Given the description of an element on the screen output the (x, y) to click on. 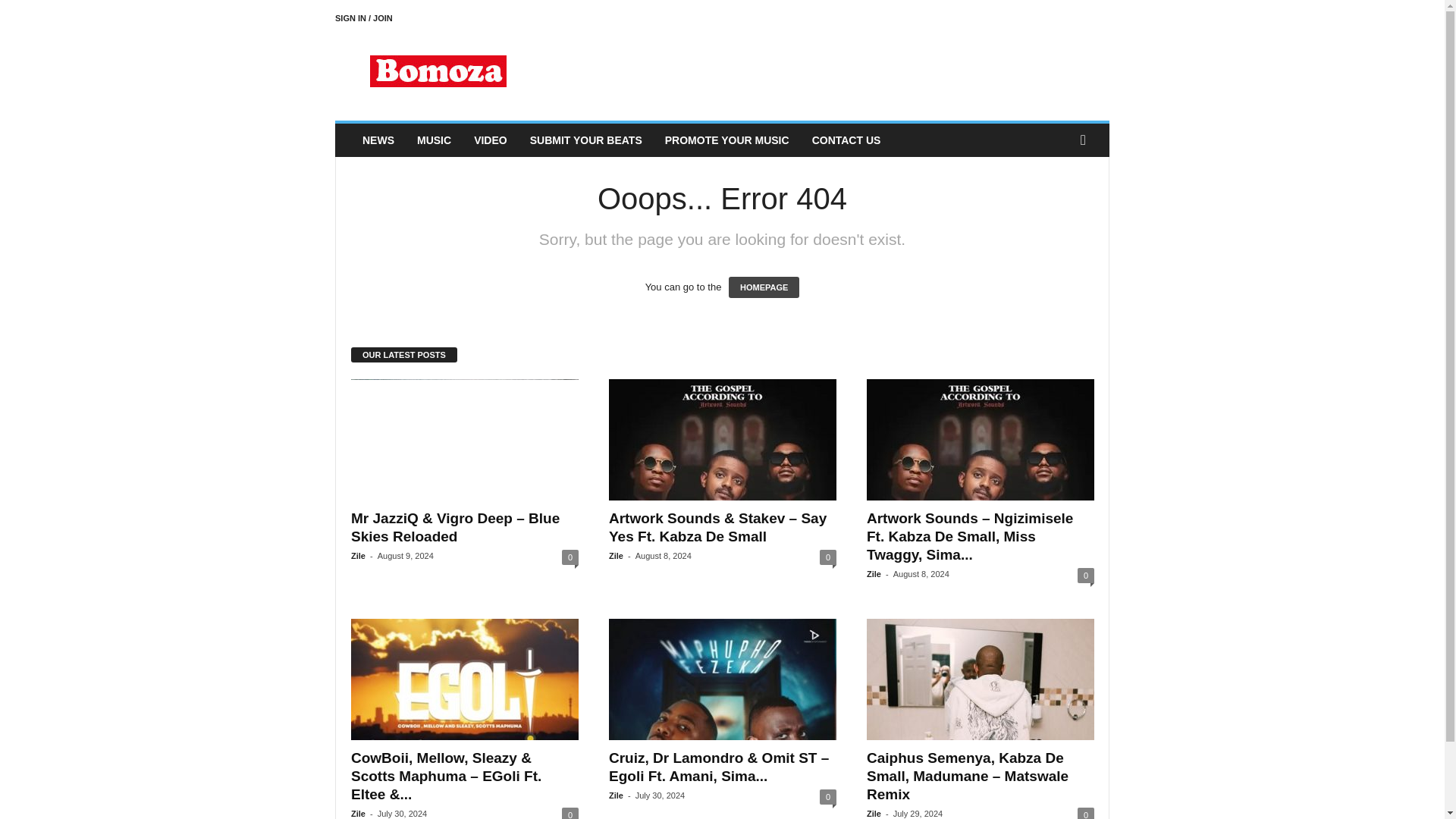
SUBMIT YOUR BEATS (585, 140)
MUSIC (434, 140)
PROMOTE YOUR MUSIC (726, 140)
HOMEPAGE (764, 287)
Zile (357, 555)
Zile (615, 555)
0 (1085, 575)
Zile (357, 813)
Bomoza (437, 70)
0 (570, 557)
